Given the description of an element on the screen output the (x, y) to click on. 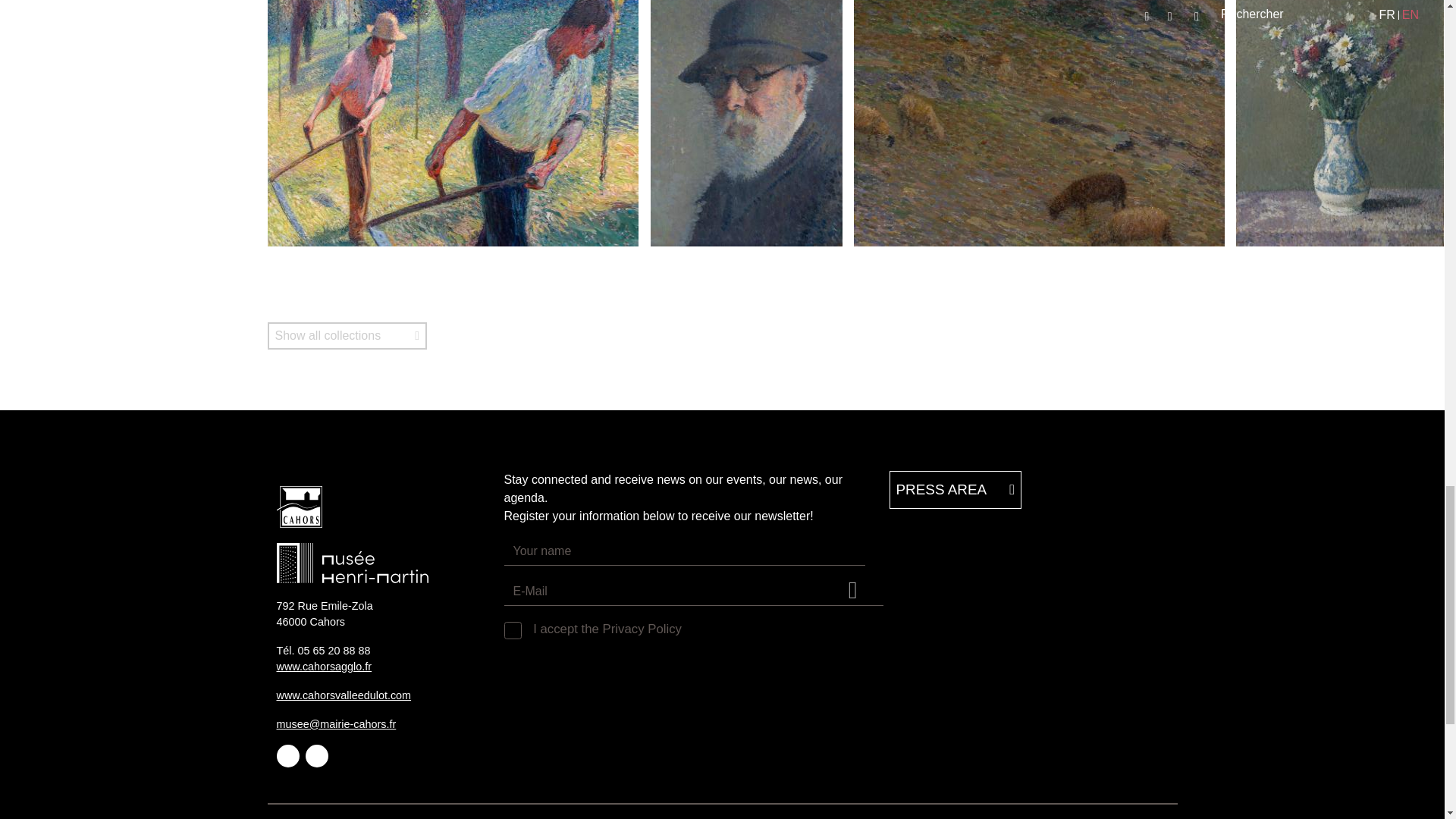
Image (380, 506)
www.cahorsagglo.fr (323, 666)
www.cahorsvalleedulot.com (343, 695)
1 (509, 627)
Show all collections (346, 335)
